Given the description of an element on the screen output the (x, y) to click on. 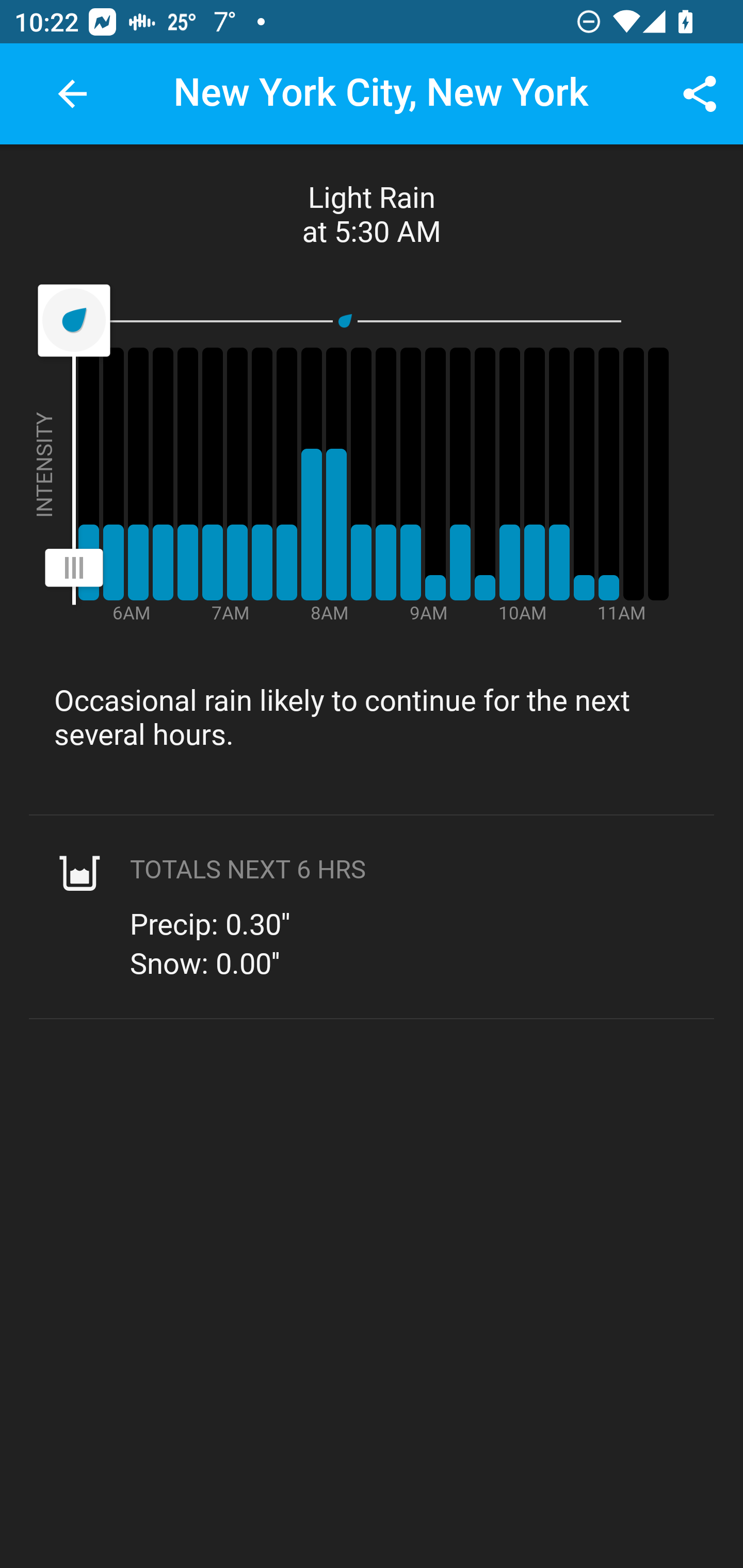
back (71, 93)
Share (699, 93)
